Given the description of an element on the screen output the (x, y) to click on. 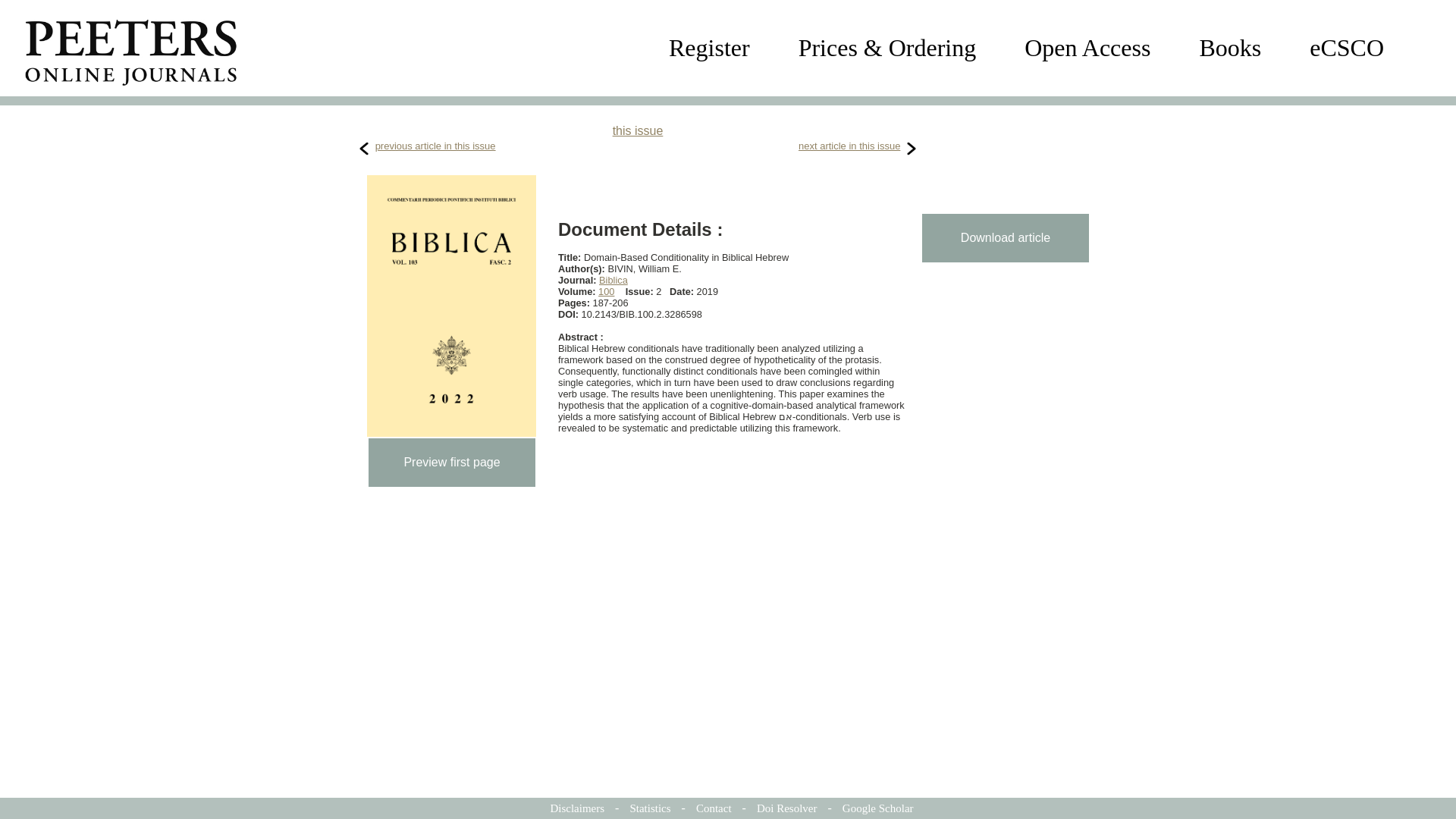
100 (606, 291)
previous article in this issue (435, 145)
Contact (713, 807)
Statistics (649, 807)
eCSCO (1346, 47)
Download article (1005, 237)
Doi Resolver (787, 807)
Register (708, 47)
Books (1229, 47)
Open Access (1087, 47)
Biblica (612, 279)
next article in this issue (848, 145)
Google Scholar (877, 807)
Disclaimers (576, 807)
this issue (637, 130)
